Given the description of an element on the screen output the (x, y) to click on. 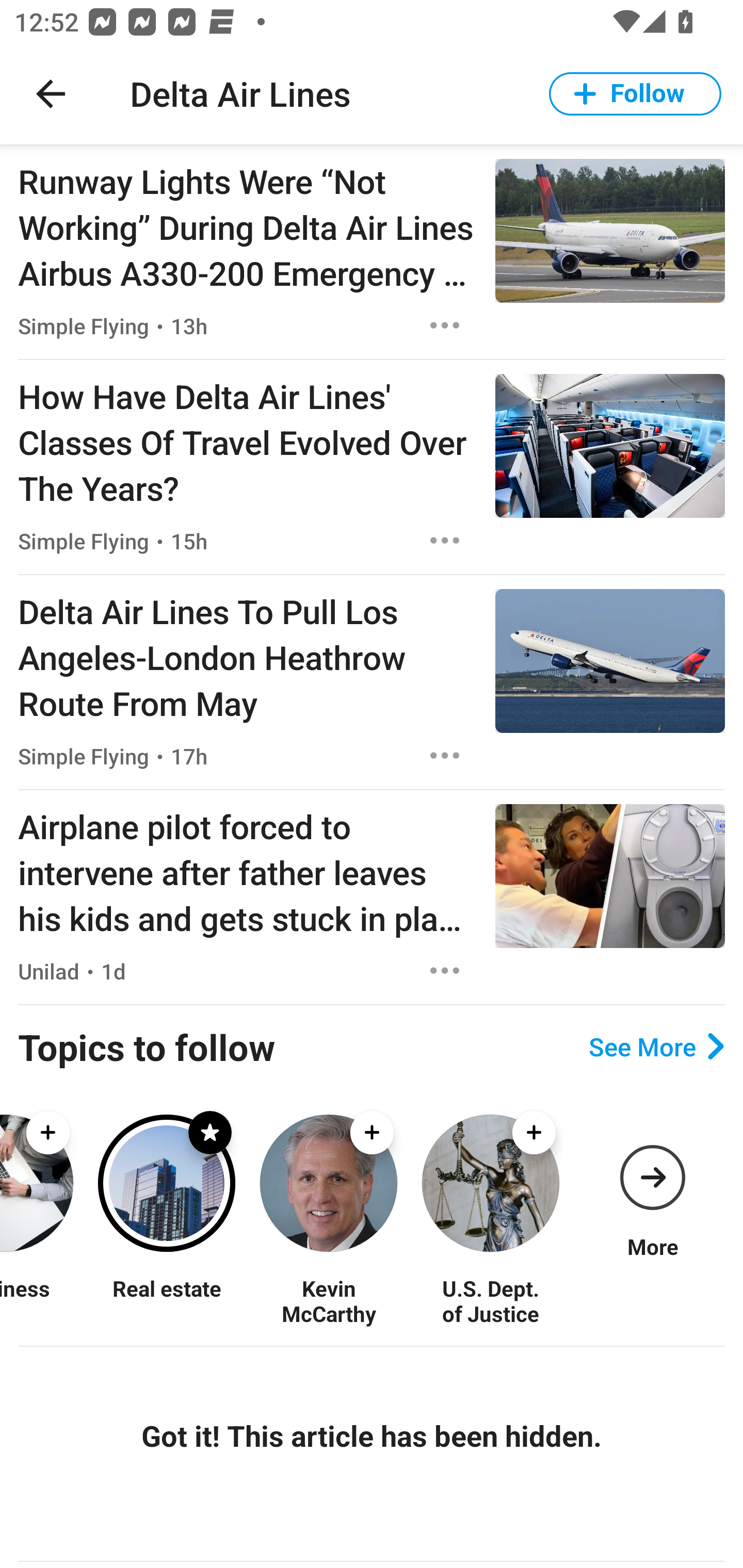
Navigate up (50, 93)
Follow (635, 94)
Options (444, 325)
Options (444, 540)
Options (444, 755)
Options (444, 970)
See More (656, 1046)
More (652, 1182)
Real estate (166, 1300)
Kevin McCarthy (328, 1300)
U.S. Dept. of Justice (490, 1300)
